Given the description of an element on the screen output the (x, y) to click on. 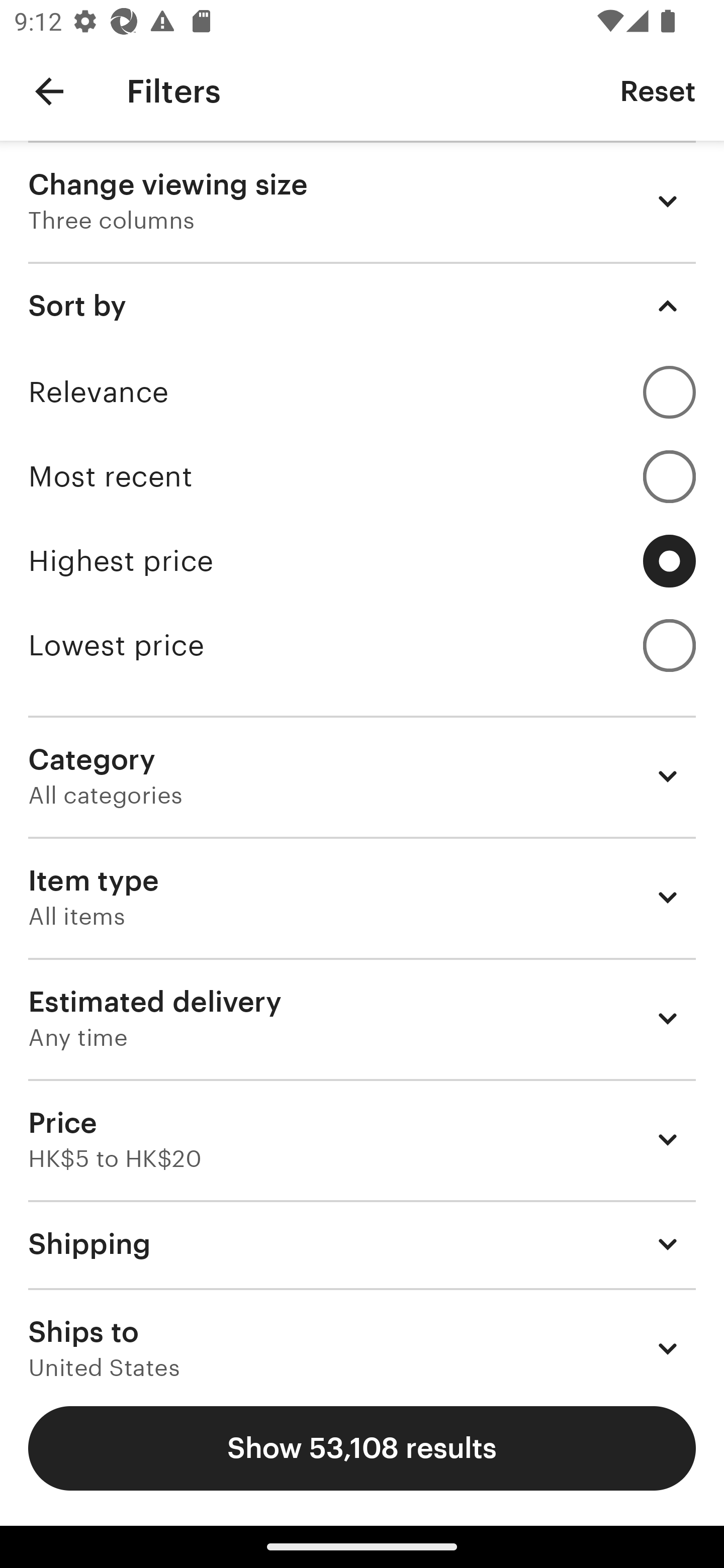
Navigate up (49, 91)
Reset (657, 90)
Change viewing size Three columns (362, 201)
Sort by (362, 305)
Relevance (362, 391)
Most recent (362, 476)
Highest price (362, 561)
Lowest price (362, 644)
Category All categories (362, 776)
Item type All items (362, 897)
Estimated delivery Any time (362, 1018)
Price HK$5 to HK$20 (362, 1138)
Shipping (362, 1243)
Ships to United States (362, 1332)
Show 53,108 results (361, 1448)
